Given the description of an element on the screen output the (x, y) to click on. 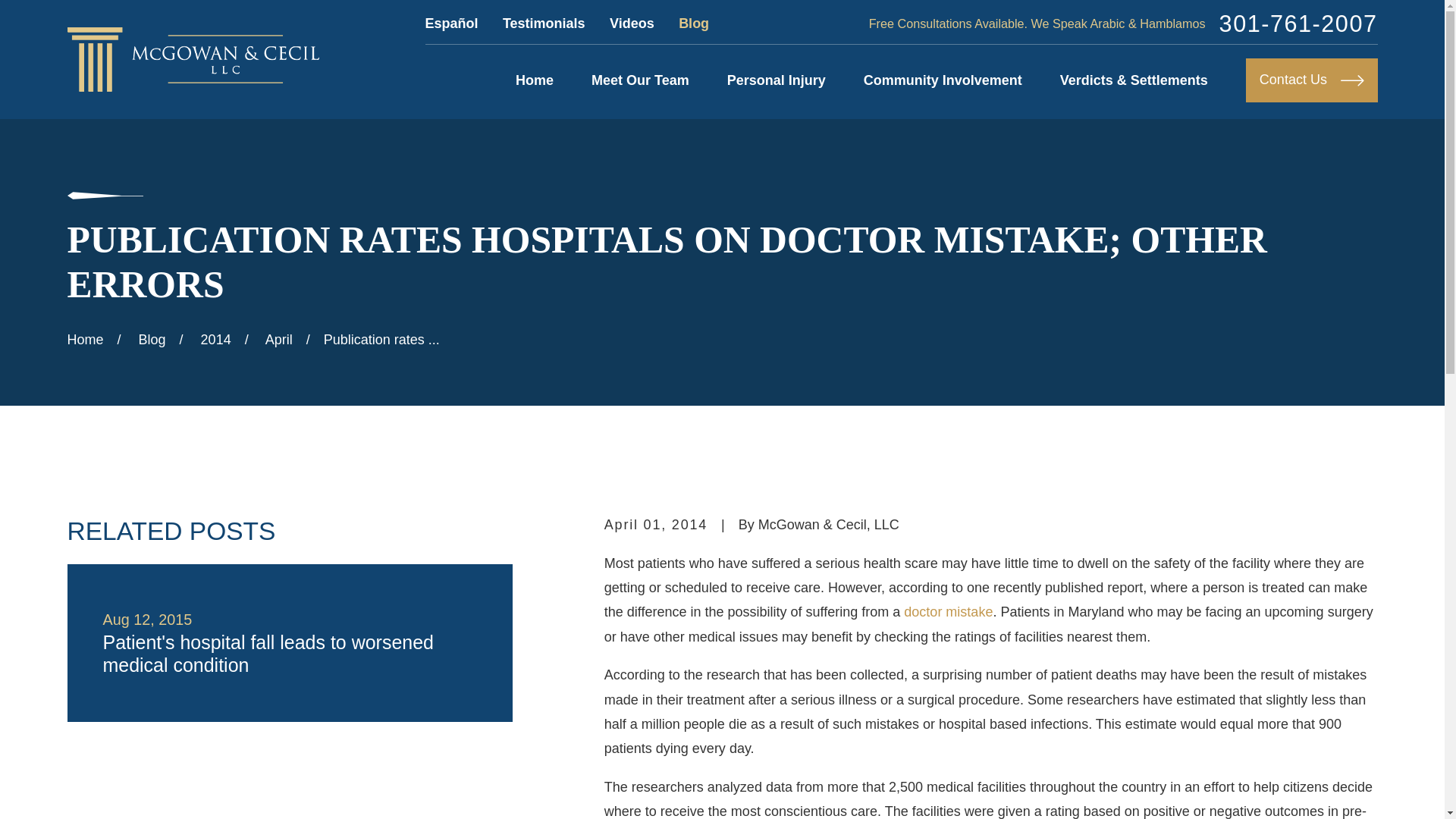
Personal Injury (775, 80)
Home (192, 59)
Blog (693, 23)
Meet Our Team (639, 80)
301-761-2007 (1298, 24)
Go Home (84, 339)
Testimonials (543, 23)
Videos (631, 23)
